Given the description of an element on the screen output the (x, y) to click on. 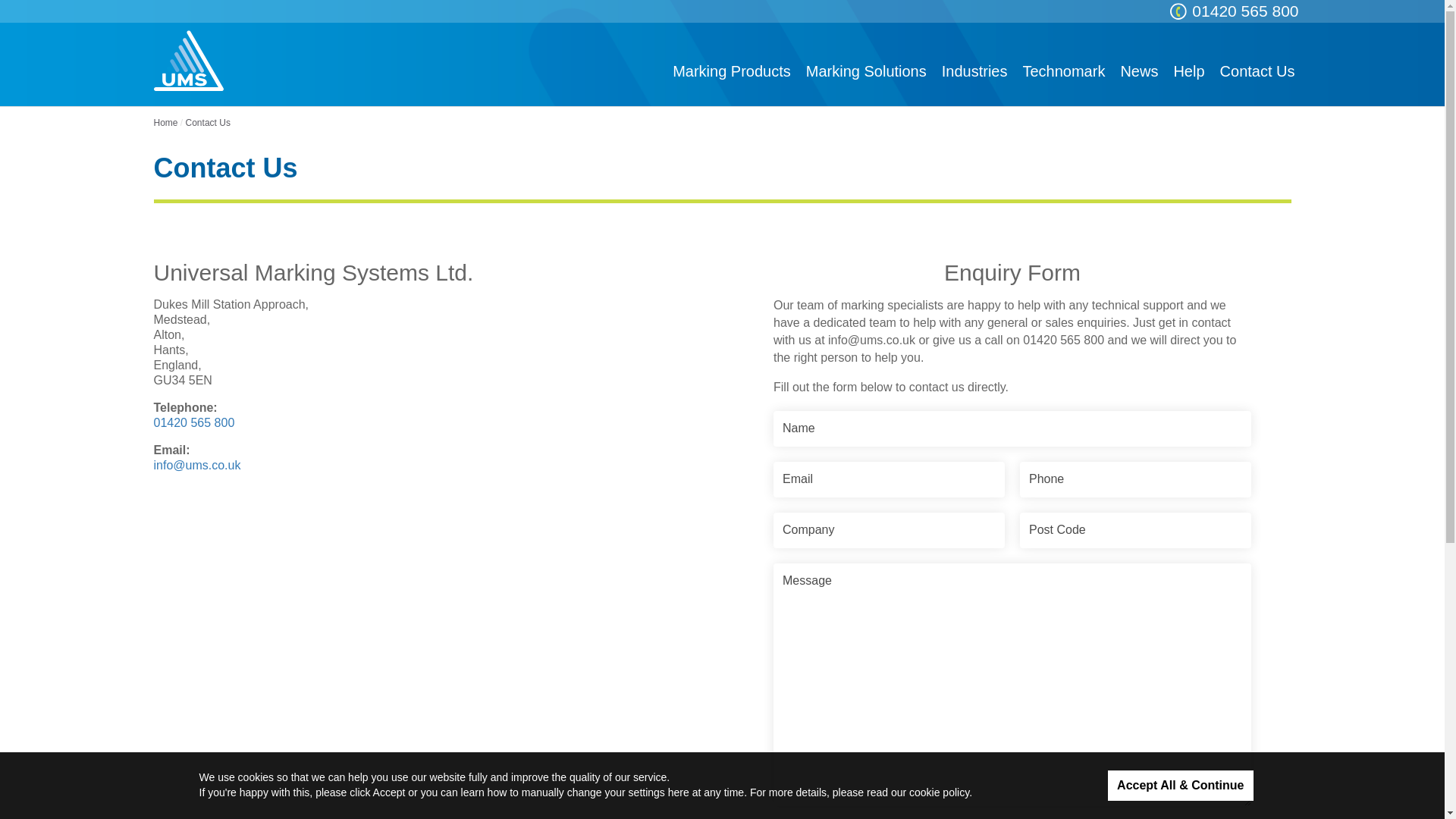
Name (1011, 428)
Company (888, 529)
Marking Solutions (865, 71)
News (1139, 71)
Phone (1135, 479)
Universal Marking Systems Ltd. (187, 60)
01420 565 800 (1244, 11)
Technomark (1063, 71)
Marking Products (731, 71)
Post Code (1135, 529)
Industries (974, 71)
Help (1188, 71)
Email (888, 479)
